Given the description of an element on the screen output the (x, y) to click on. 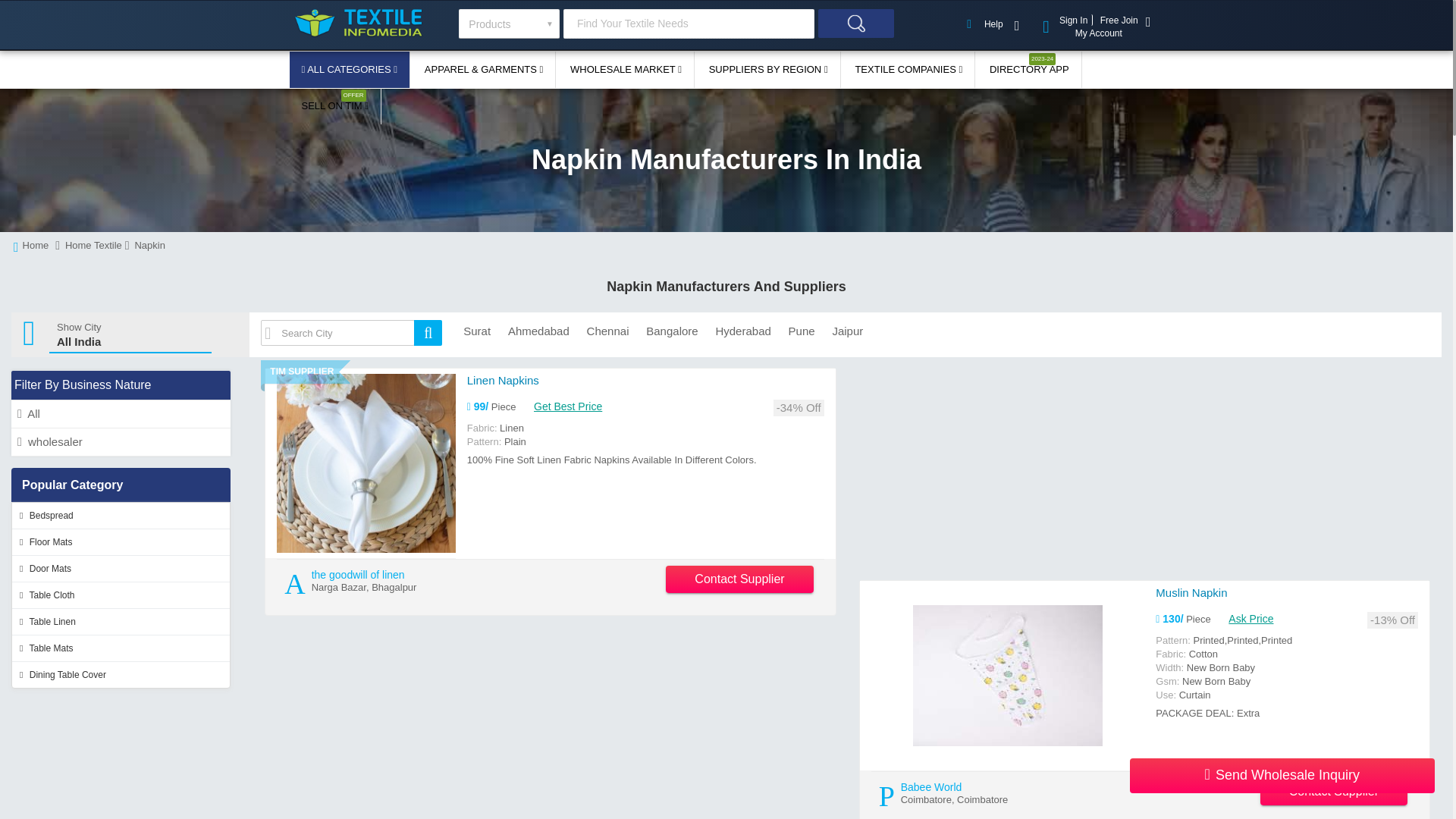
linen napkins (502, 379)
Buy Textile Directory (1028, 69)
muslin napkin (1007, 675)
napkin wholesaler (120, 442)
table mats (120, 647)
bedspread (120, 515)
Products (508, 23)
dining table cover (120, 674)
table linen (120, 621)
napkin (120, 414)
